Given the description of an element on the screen output the (x, y) to click on. 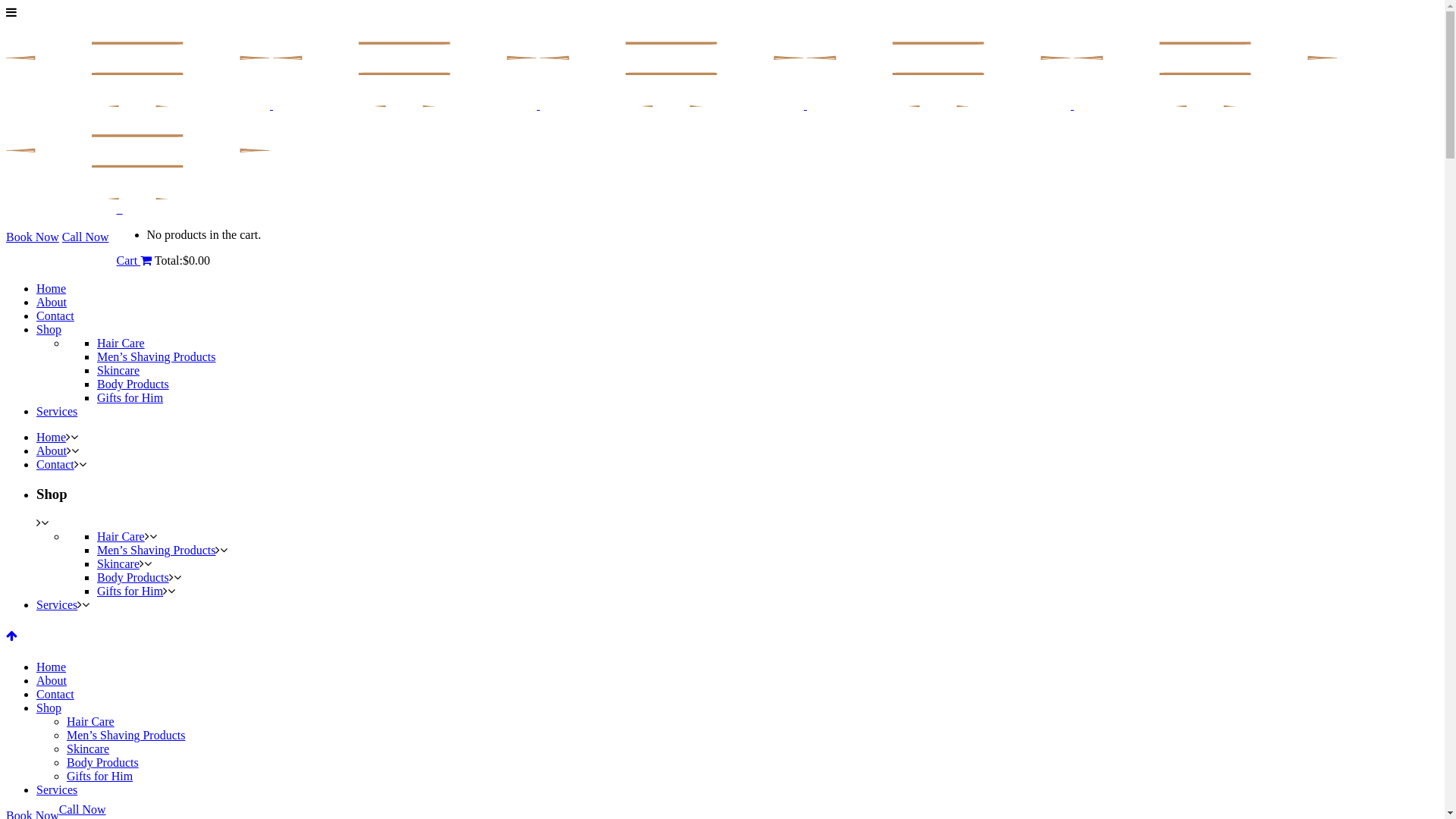
Gifts for Him Element type: text (99, 775)
Body Products Element type: text (133, 383)
Skincare Element type: text (118, 370)
0 Element type: text (119, 208)
Contact Element type: text (55, 315)
Cart Element type: text (134, 260)
Hair Care Element type: text (120, 342)
Body Products Element type: text (102, 762)
Book Now Element type: text (32, 236)
Home Element type: text (50, 288)
Shop Element type: text (48, 707)
Contact Element type: text (55, 693)
Services Element type: text (56, 410)
About Element type: text (51, 450)
Shop Element type: text (48, 329)
Call Now Element type: text (82, 809)
Body Products Element type: text (133, 577)
Services Element type: text (56, 789)
Call Now Element type: text (85, 236)
Home Element type: text (50, 666)
About Element type: text (51, 680)
Gifts for Him Element type: text (130, 590)
About Element type: text (51, 301)
Hair Care Element type: text (120, 536)
Services Element type: text (56, 604)
Contact Element type: text (55, 464)
Hair Care Element type: text (90, 721)
Home Element type: text (50, 436)
Skincare Element type: text (118, 563)
Skincare Element type: text (87, 748)
Gifts for Him Element type: text (130, 397)
